Given the description of an element on the screen output the (x, y) to click on. 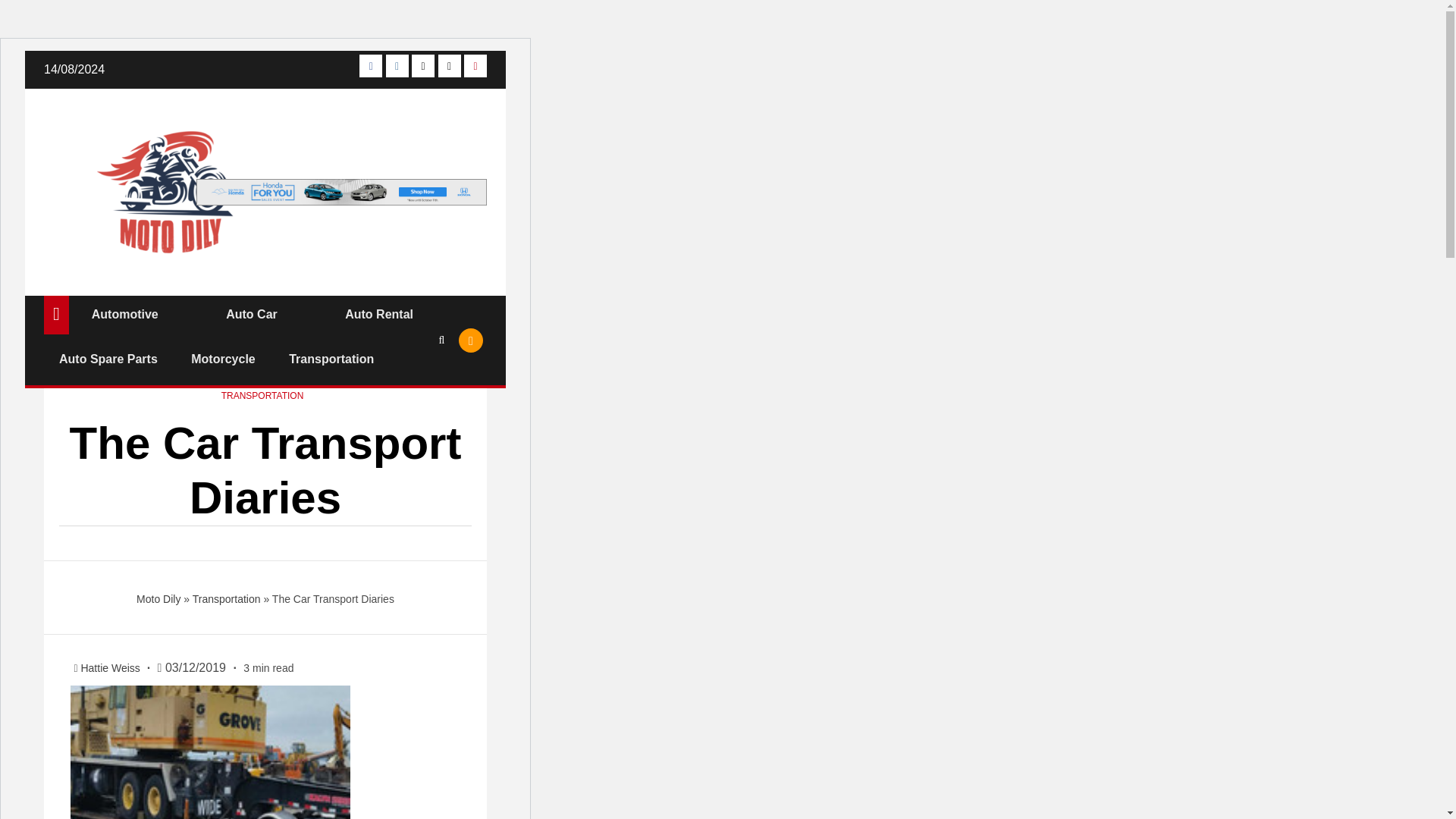
Auto Spare Parts (108, 358)
Instagram (397, 65)
Tiktok (449, 65)
Twitter (422, 65)
Automotive (124, 314)
TRANSPORTATION (262, 395)
Auto Rental (379, 314)
Hattie Weiss (111, 667)
The Car Transport Diaries (209, 752)
